Given the description of an element on the screen output the (x, y) to click on. 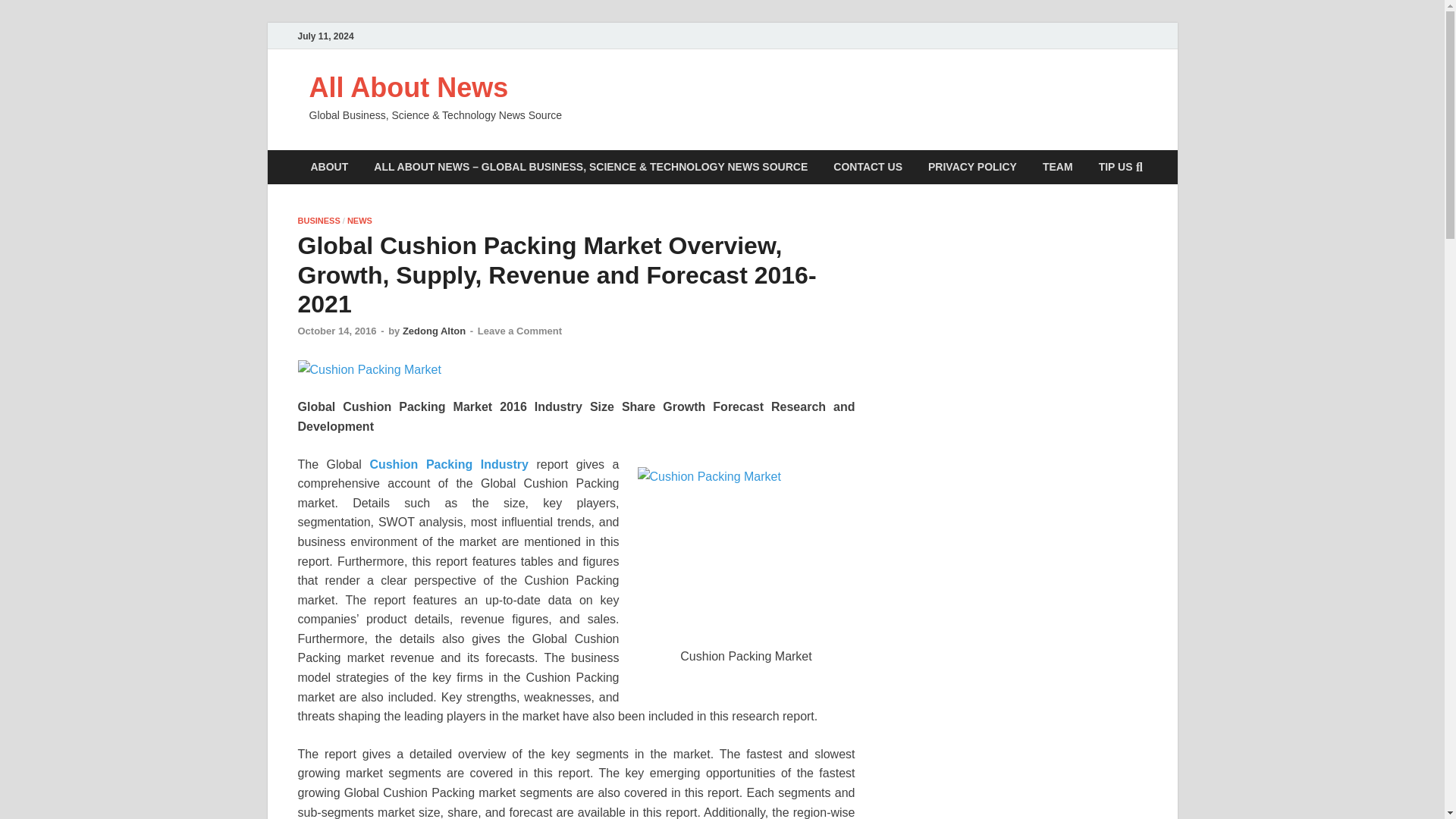
CONTACT US (868, 166)
ABOUT (329, 166)
TIP US (1115, 166)
NEWS (359, 220)
Cushion Packing Industry (448, 463)
October 14, 2016 (336, 330)
Leave a Comment (519, 330)
Zedong Alton (434, 330)
BUSINESS (318, 220)
PRIVACY POLICY (972, 166)
All About News (408, 87)
TEAM (1057, 166)
